Given the description of an element on the screen output the (x, y) to click on. 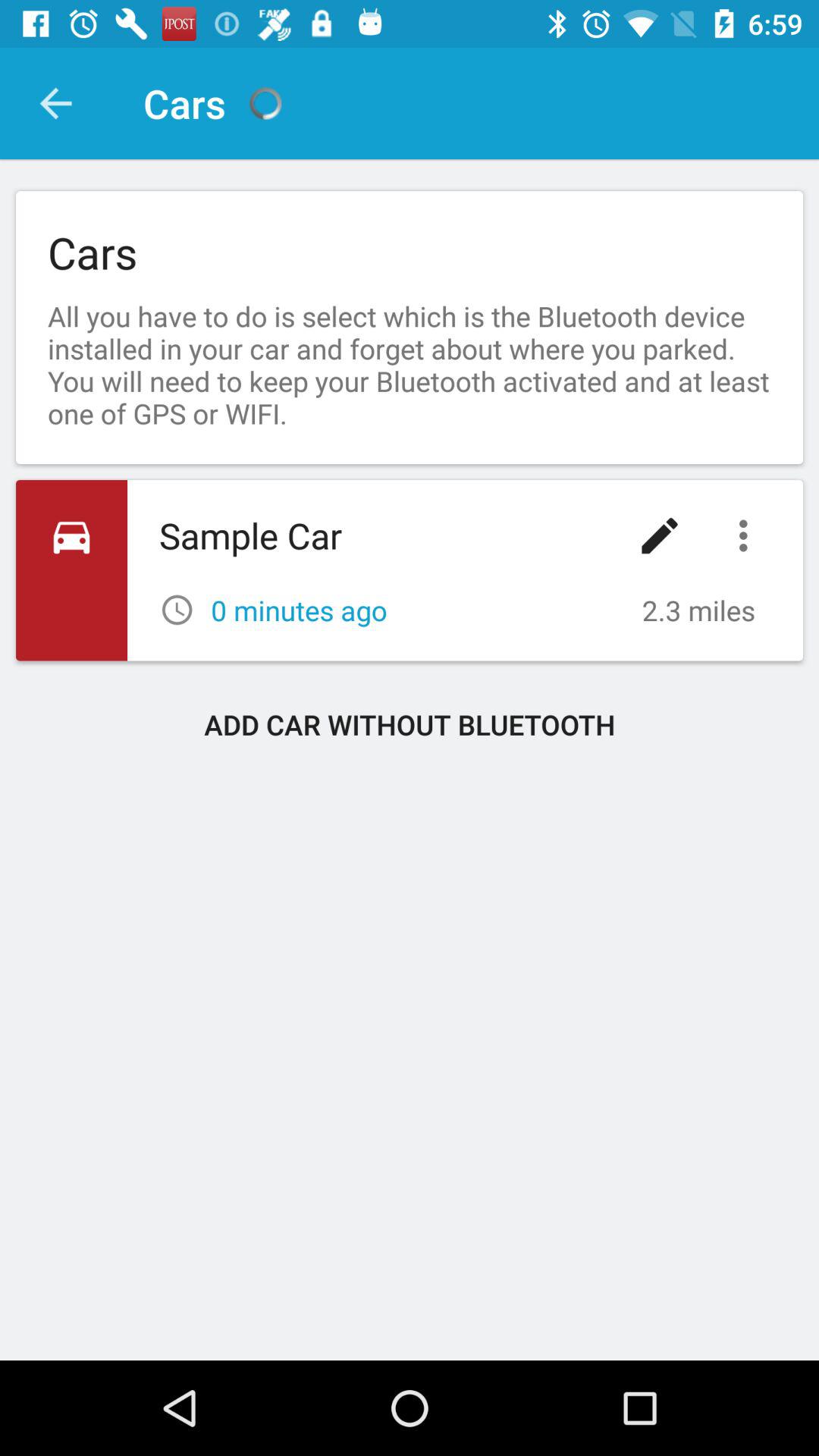
select the 3 vertical dots icon (747, 535)
select the edit option which is after the sample car (659, 535)
click on the icon left of the text sample car (71, 570)
go to sample car (409, 570)
